Given the description of an element on the screen output the (x, y) to click on. 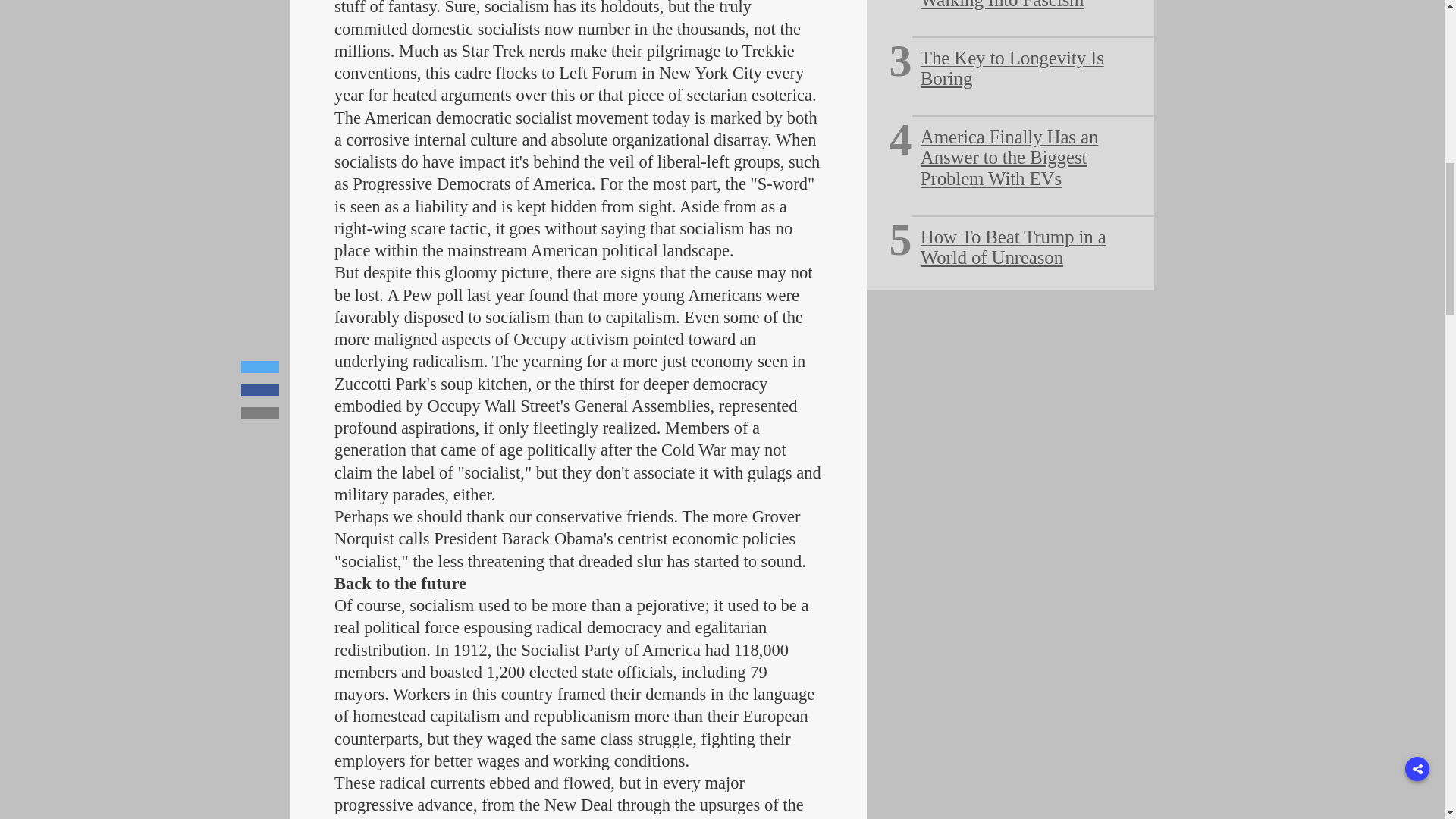
How To Beat Trump in a World of Unreason (1013, 247)
The Democrats Are Slow-Walking Into Fascism (1018, 5)
The Key to Longevity Is Boring (1011, 68)
